Given the description of an element on the screen output the (x, y) to click on. 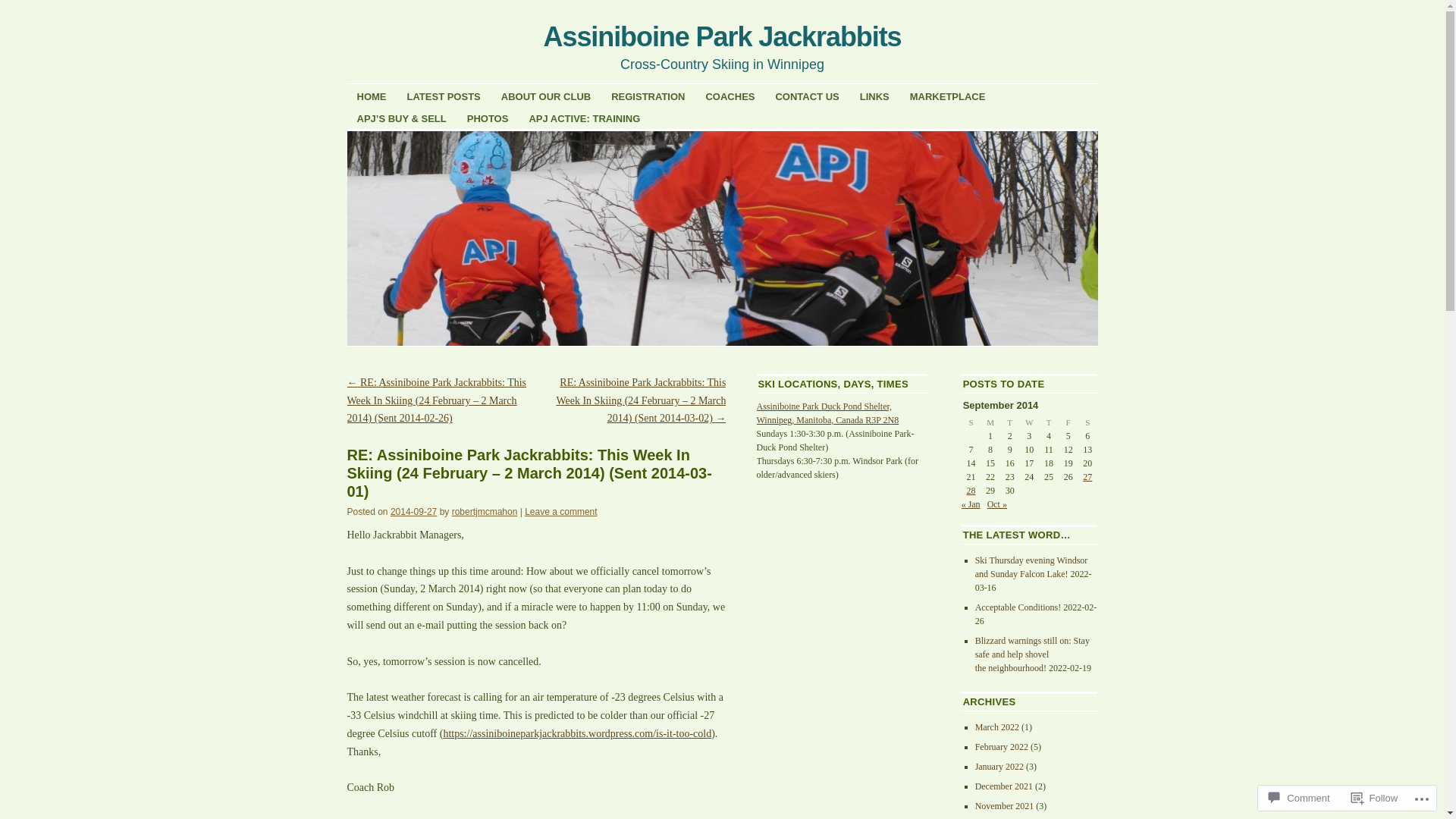
February 2022 Element type: text (1001, 746)
ABOUT OUR CLUB Element type: text (545, 95)
HOME Element type: text (371, 95)
Assiniboine Park Jackrabbits Element type: text (722, 36)
LINKS Element type: text (874, 95)
MARKETPLACE Element type: text (947, 95)
28 Element type: text (970, 490)
COACHES Element type: text (729, 95)
27 Element type: text (1087, 476)
Acceptable Conditions! Element type: text (1018, 607)
APJ ACTIVE: TRAINING Element type: text (583, 117)
2014-09-27 Element type: text (413, 511)
January 2022 Element type: text (999, 766)
March 2022 Element type: text (997, 726)
Leave a comment Element type: text (560, 511)
robertjmcmahon Element type: text (484, 511)
December 2021 Element type: text (1003, 786)
PHOTOS Element type: text (487, 117)
Follow Element type: text (1374, 797)
CONTACT US Element type: text (806, 95)
Comment Element type: text (1298, 797)
LATEST POSTS Element type: text (443, 95)
November 2021 Element type: text (1004, 805)
Ski Thursday evening Windsor and Sunday Falcon Lake! Element type: text (1031, 567)
REGISTRATION Element type: text (647, 95)
